Given the description of an element on the screen output the (x, y) to click on. 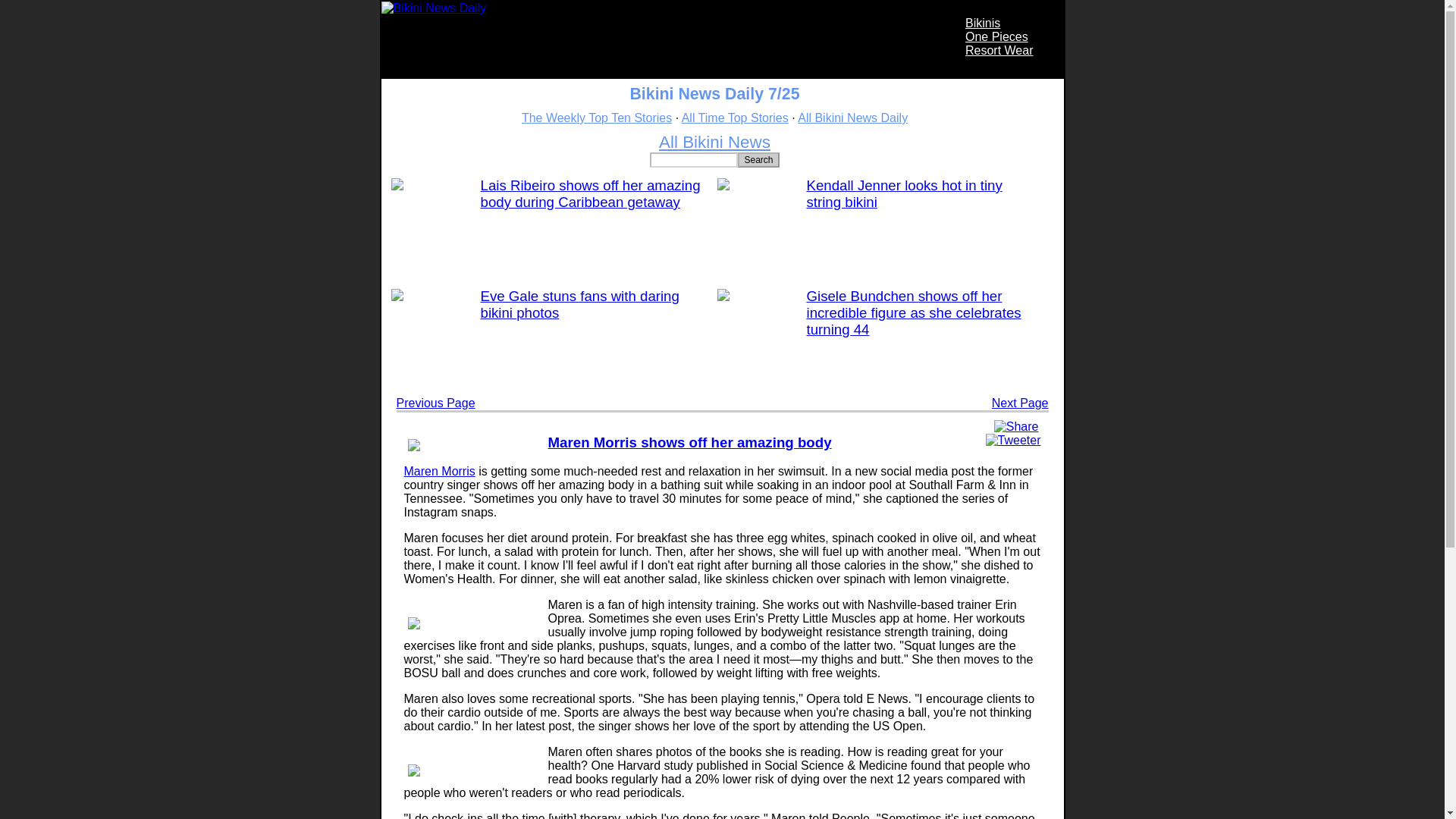
Eve Gale stuns fans with daring bikini photos (579, 304)
All Bikini News Daily (852, 117)
Previous Page (435, 402)
Resort Wear (999, 50)
Maren Morris (438, 471)
The Weekly Top Ten Stories (596, 117)
All Time Top Stories (735, 117)
Kendall Jenner looks hot in tiny string bikini (904, 193)
One Pieces (996, 36)
All Bikini News (714, 141)
Next Page (1019, 402)
Search (758, 159)
Bikinis (982, 22)
